Given the description of an element on the screen output the (x, y) to click on. 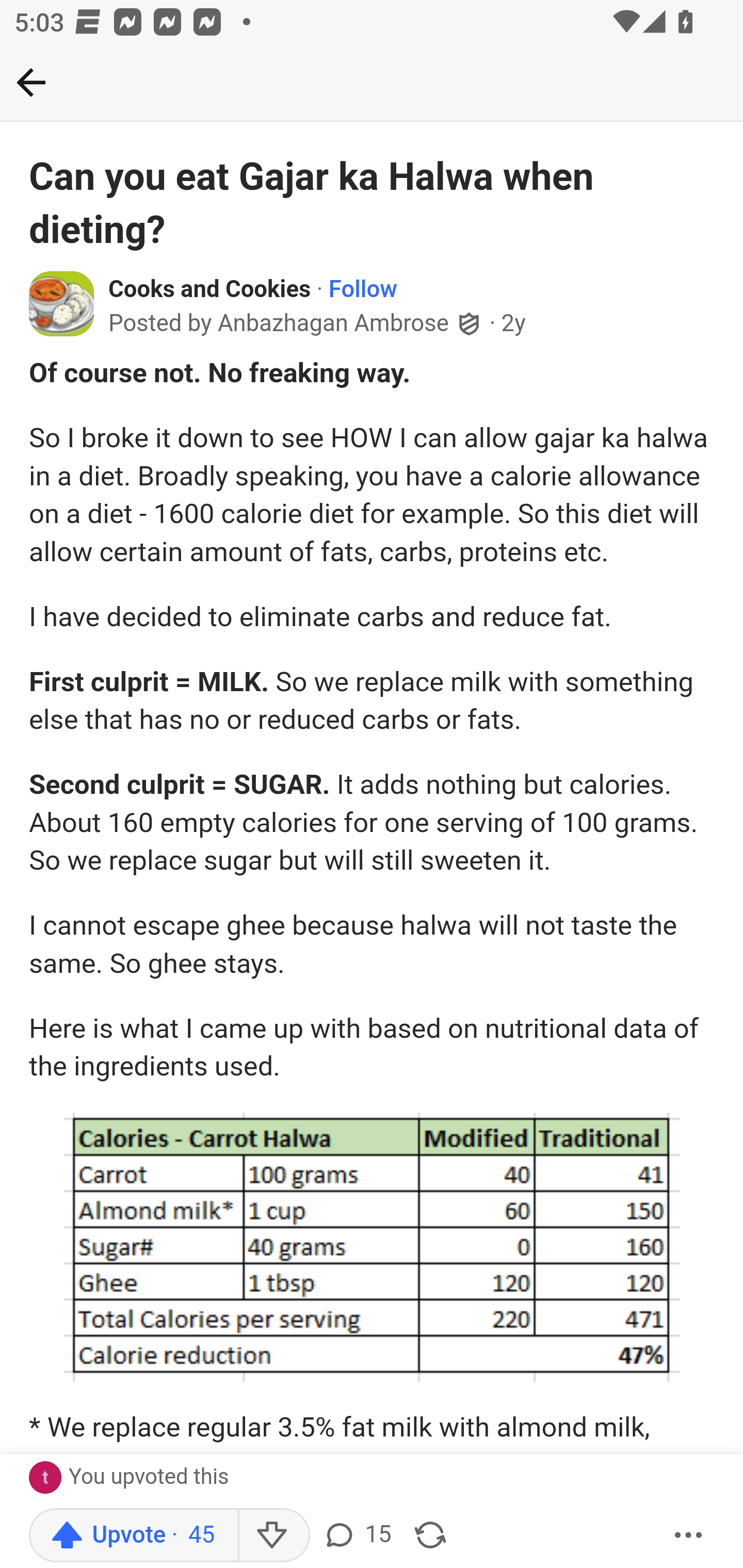
Back (30, 82)
Icon for Cooks and Cookies (61, 302)
Cooks and Cookies (210, 289)
Follow (362, 289)
Anbazhagan Ambrose (332, 323)
2y 2 y (513, 323)
main-qimg-ca32be9729363747625ade68871efc11 (371, 1246)
Upvote (133, 1535)
Downvote (273, 1535)
15 comments (356, 1535)
Share (430, 1535)
More (688, 1535)
